Given the description of an element on the screen output the (x, y) to click on. 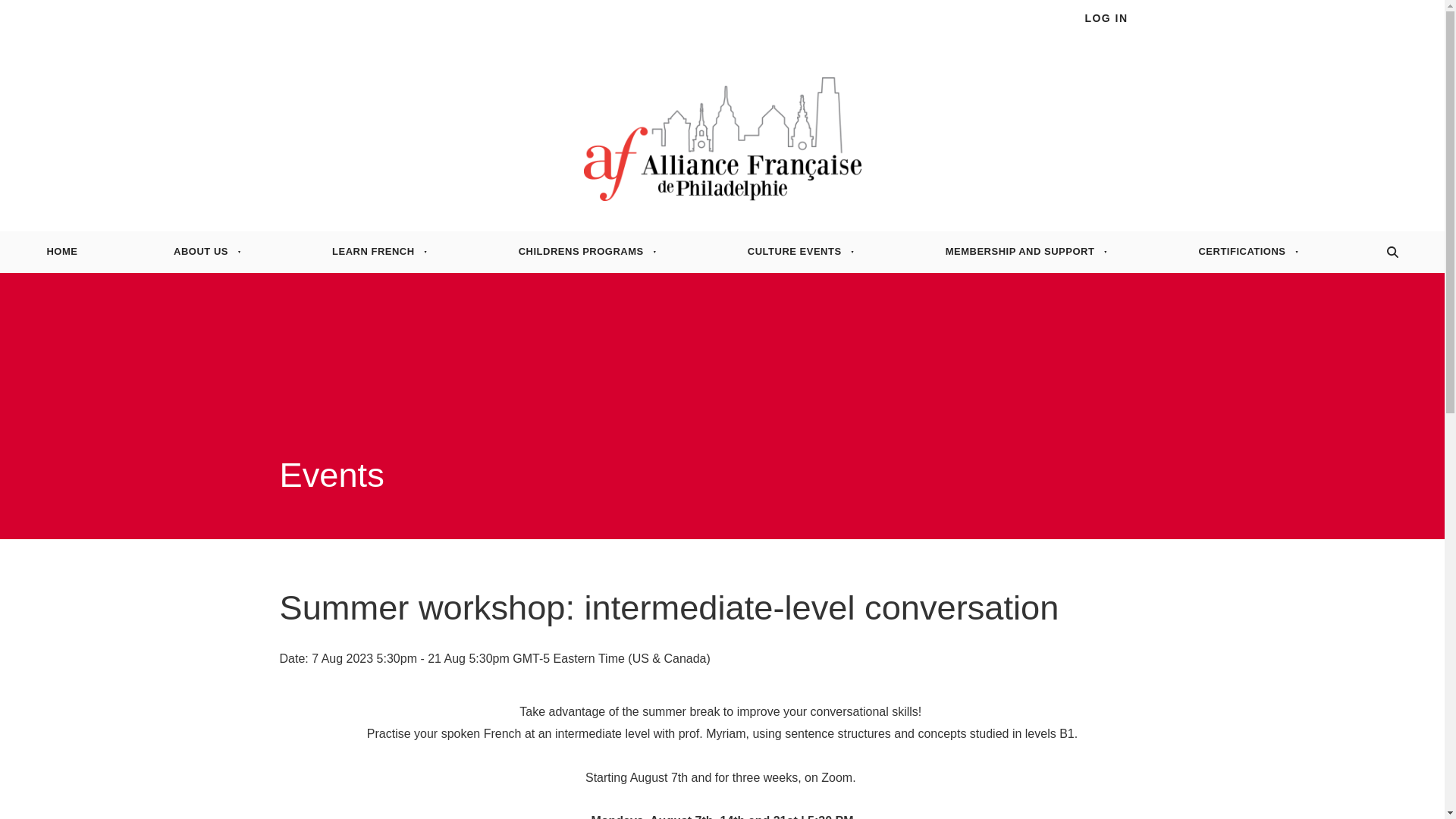
LEARN FRENCH (375, 251)
LOG IN (1107, 18)
CERTIFICATIONS (1243, 251)
MEMBERSHIP AND SUPPORT (1021, 251)
CHILDRENS PROGRAMS (582, 251)
ABOUT US (202, 251)
HOME (61, 251)
CULTURE EVENTS (796, 251)
